Given the description of an element on the screen output the (x, y) to click on. 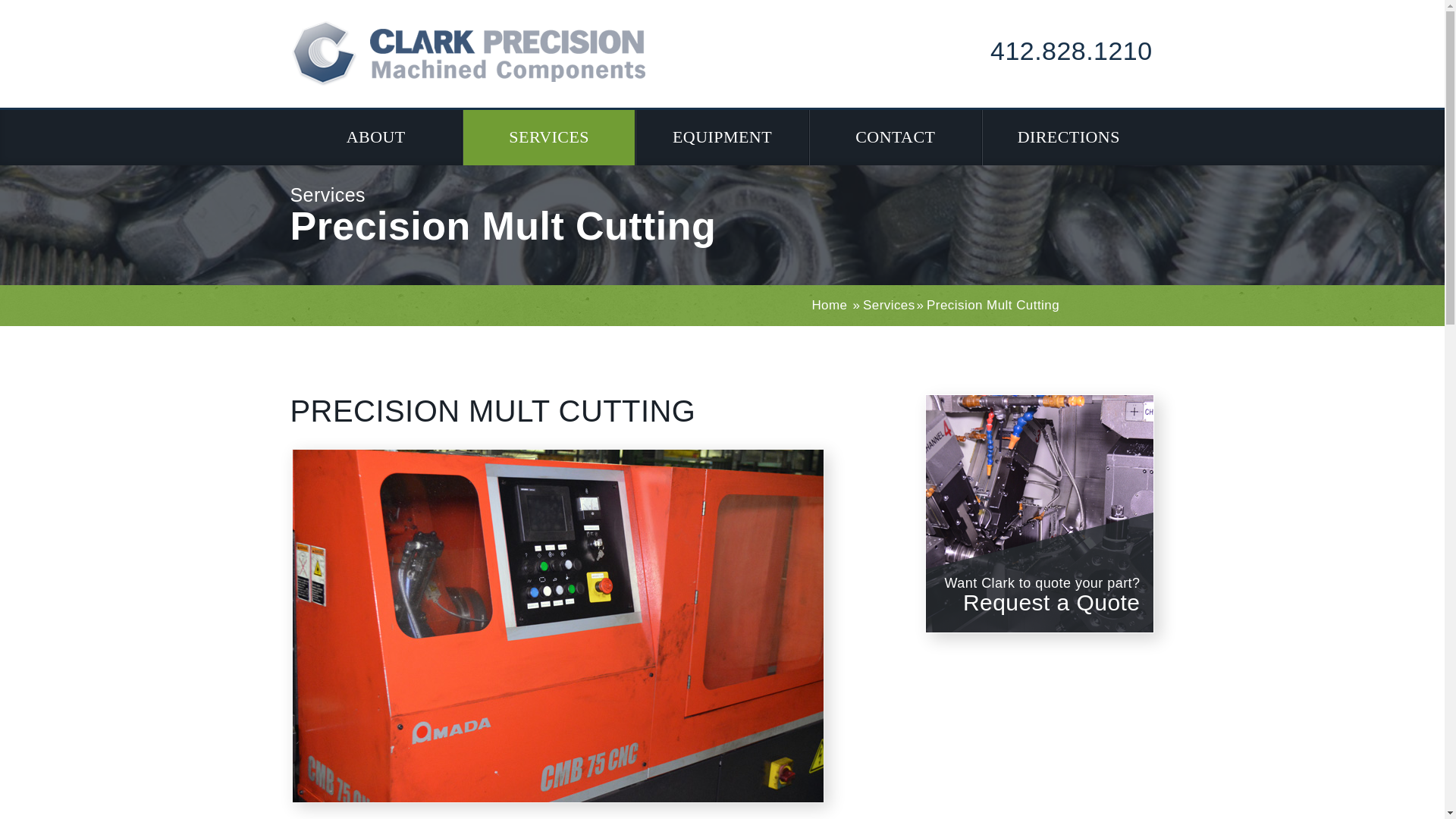
Clark Precision Machined Components (1054, 512)
Home (828, 305)
EQUIPMENT (722, 137)
Services (889, 305)
412.828.1210 (1070, 50)
ABOUT (375, 137)
Clark Precision (467, 52)
CONTACT (895, 137)
SERVICES (548, 137)
DIRECTIONS (1068, 137)
Clark Precision Machined Components (1038, 513)
